Given the description of an element on the screen output the (x, y) to click on. 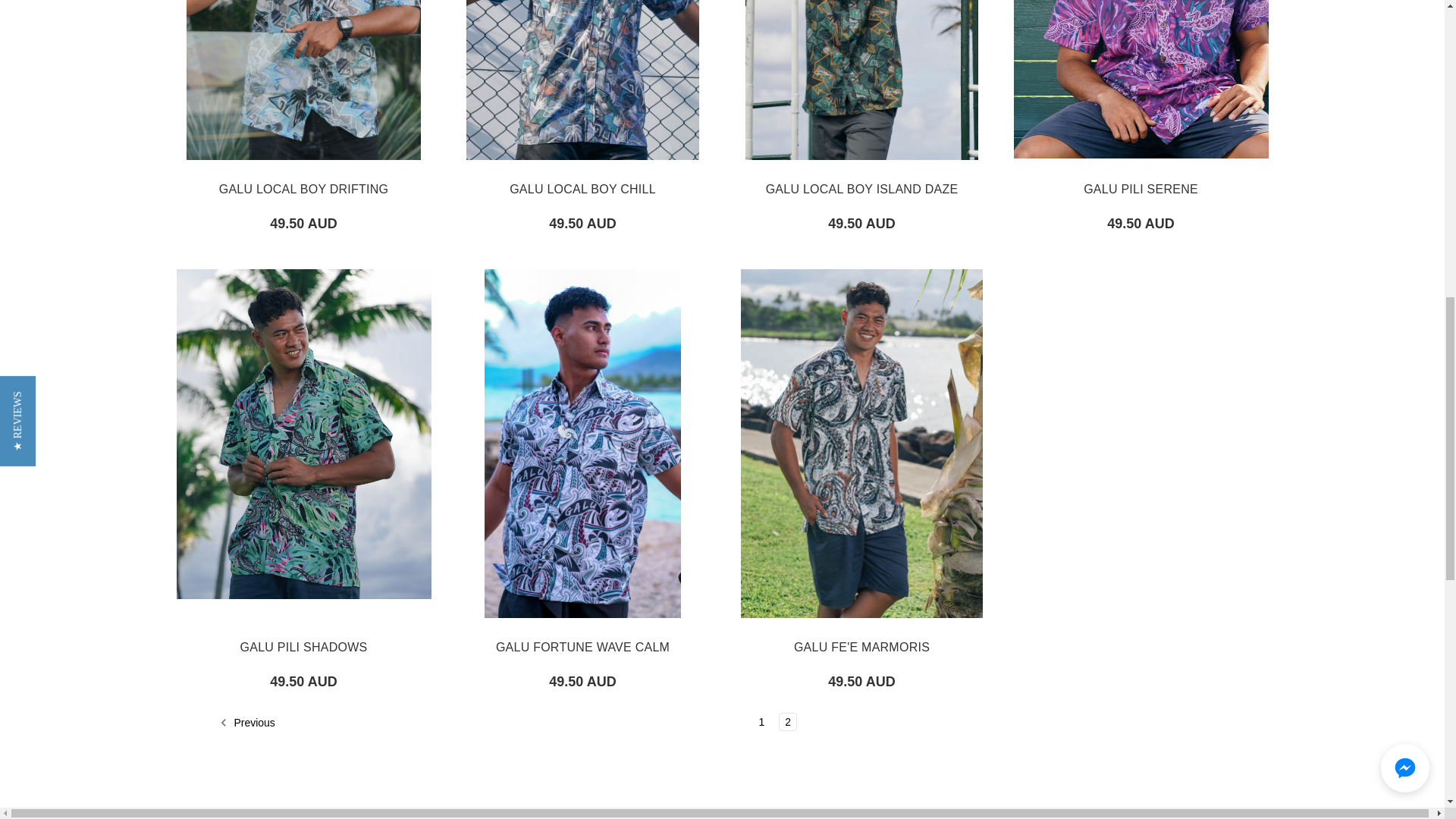
GALU LOCAL BOY CHILL (582, 79)
GALU PILI SERENE (1140, 79)
GALU LOCAL BOY DRIFTING (303, 79)
GALU LOCAL BOY ISLAND DAZE (860, 79)
